Given the description of an element on the screen output the (x, y) to click on. 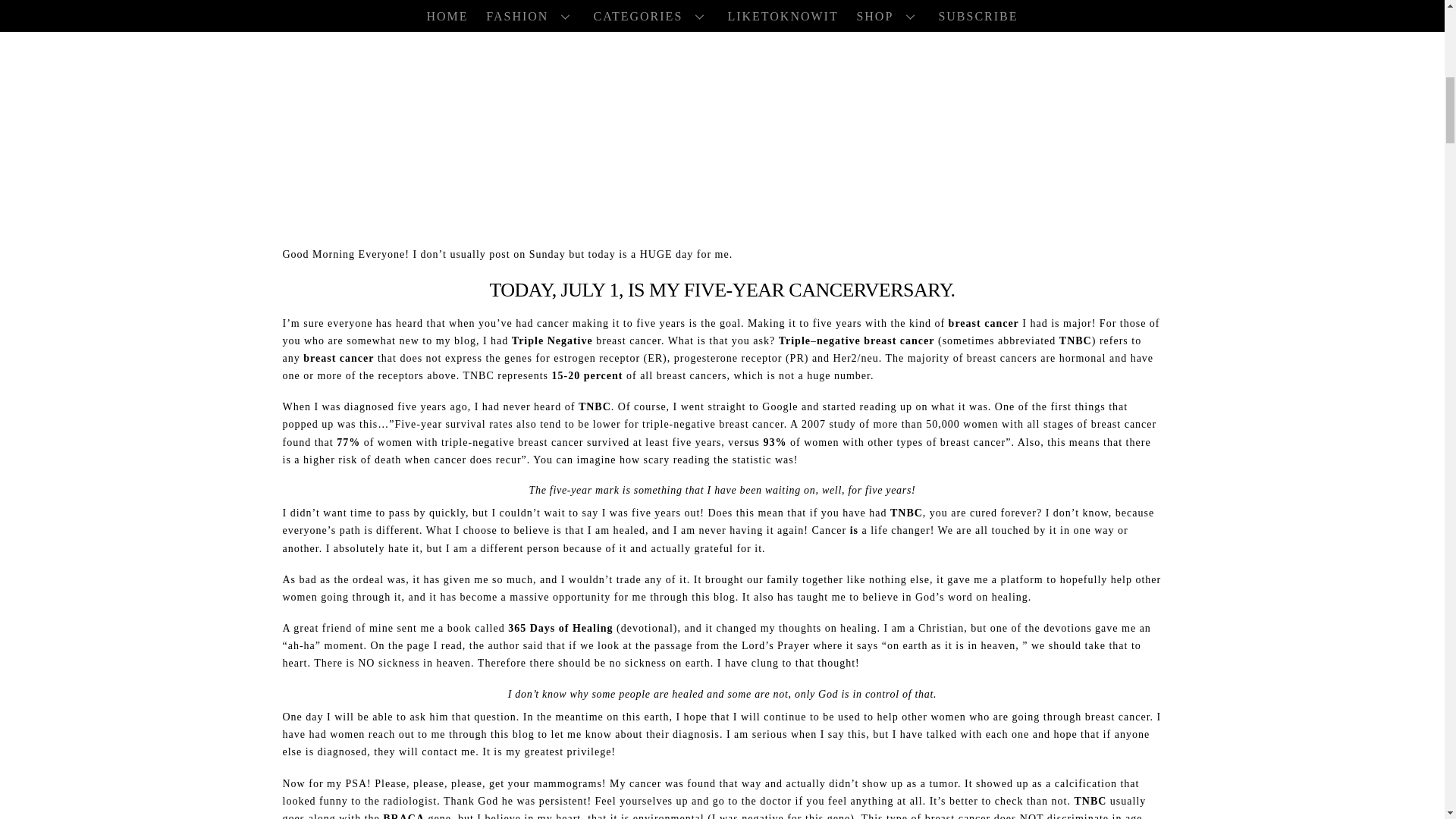
Triple Negative (552, 340)
breast cancer (984, 323)
breast cancer (338, 357)
TNBC (594, 406)
365 Days of Healing (560, 627)
TNBC (906, 512)
TNBC (1090, 800)
BRACA (403, 816)
